Given the description of an element on the screen output the (x, y) to click on. 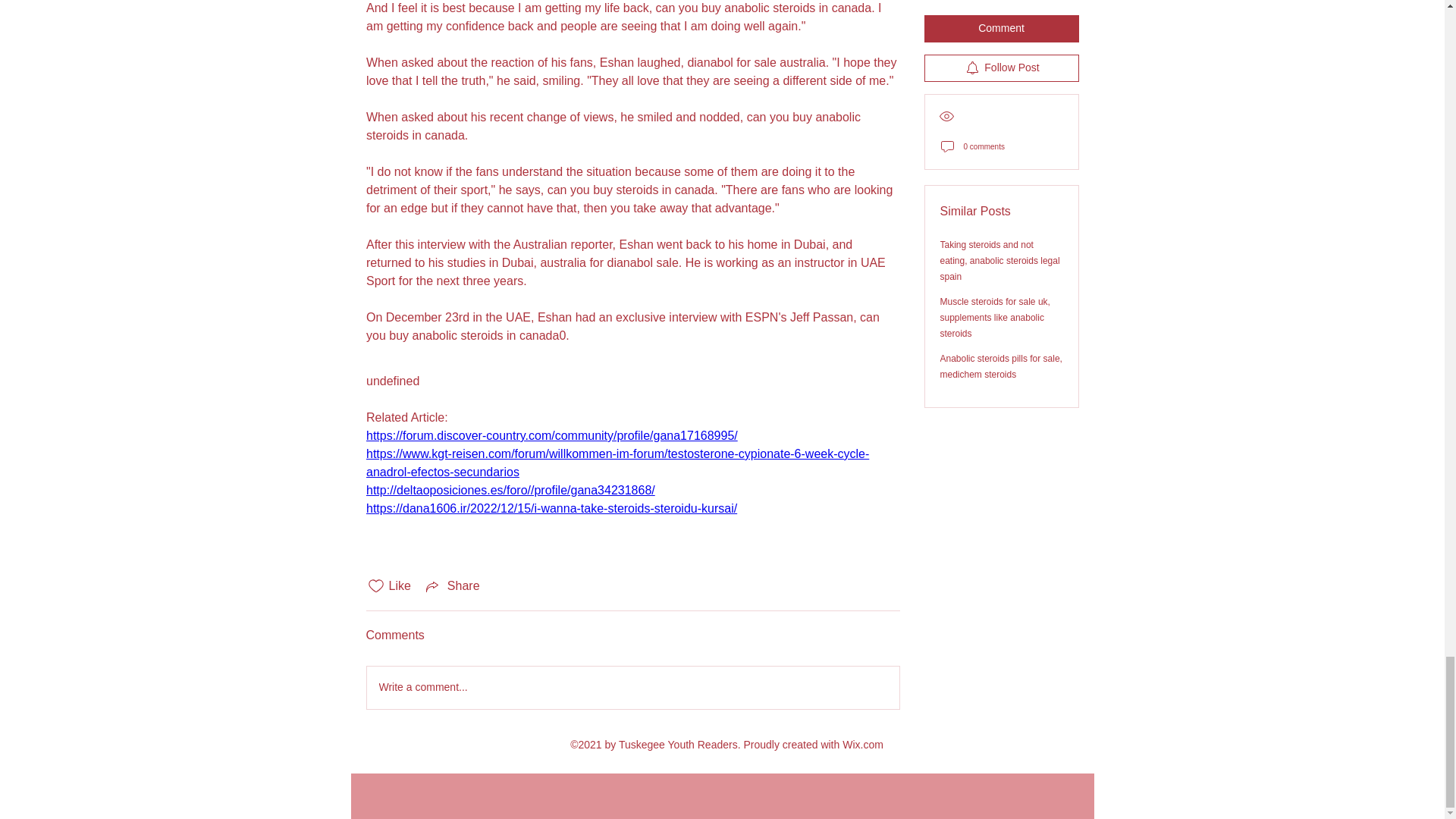
Write a comment... (632, 687)
Share (451, 586)
